Given the description of an element on the screen output the (x, y) to click on. 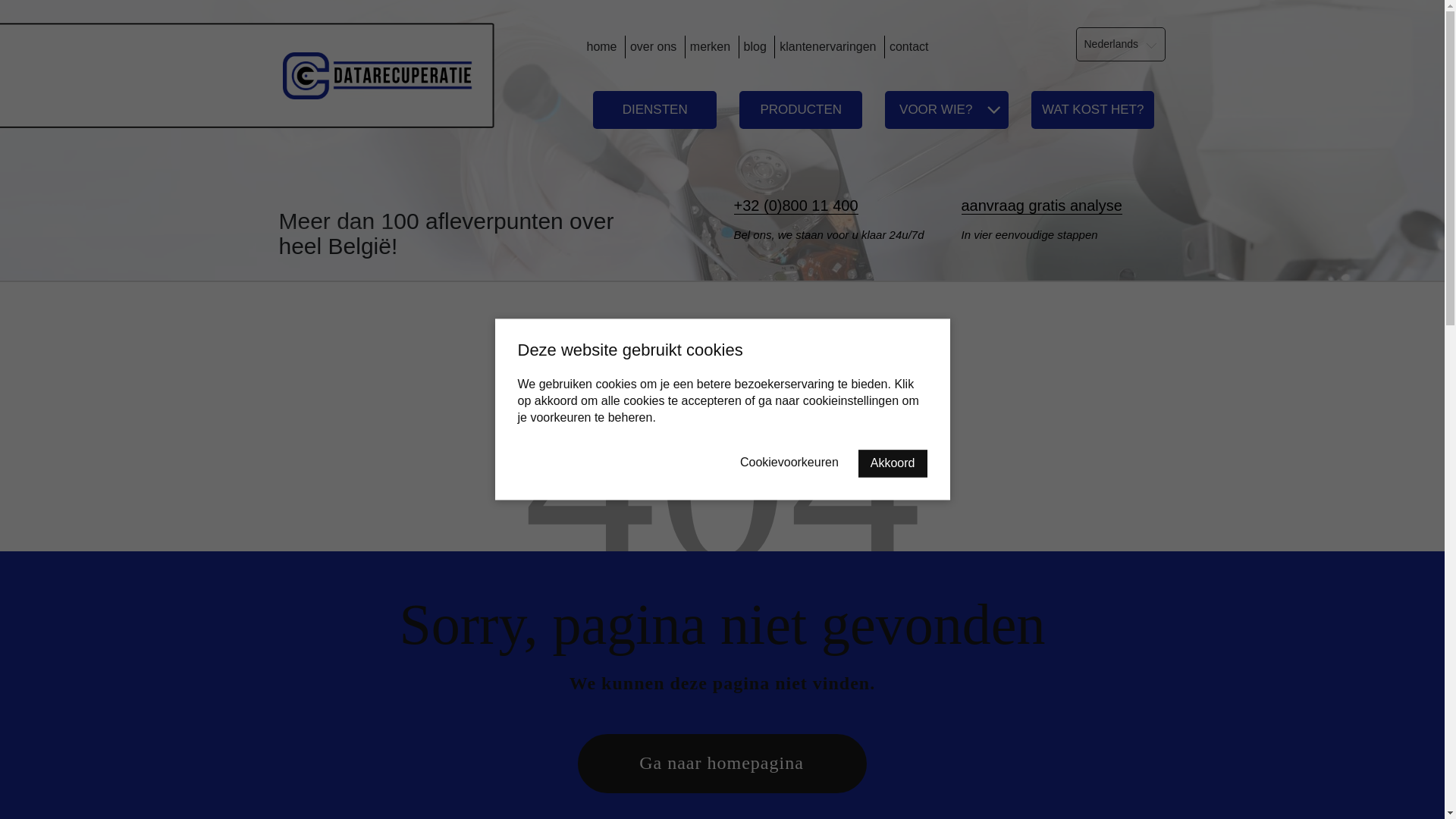
PRODUCTEN Element type: text (800, 109)
over ons Element type: text (653, 46)
contact Element type: text (908, 46)
VOOR WIE? Element type: text (946, 109)
Datarecuperatie Element type: hover (377, 74)
aanvraag gratis analyse Element type: text (1063, 209)
merken Element type: text (710, 46)
klantenervaringen Element type: text (827, 46)
WAT KOST HET? Element type: text (1092, 109)
Ga naar homepagina Element type: text (721, 763)
DIENSTEN Element type: text (654, 109)
+32 (0)800 11 400 Element type: text (796, 205)
home Element type: text (601, 46)
blog Element type: text (754, 46)
Akkoord Element type: text (892, 463)
Cookievoorkeuren Element type: text (789, 462)
